Given the description of an element on the screen output the (x, y) to click on. 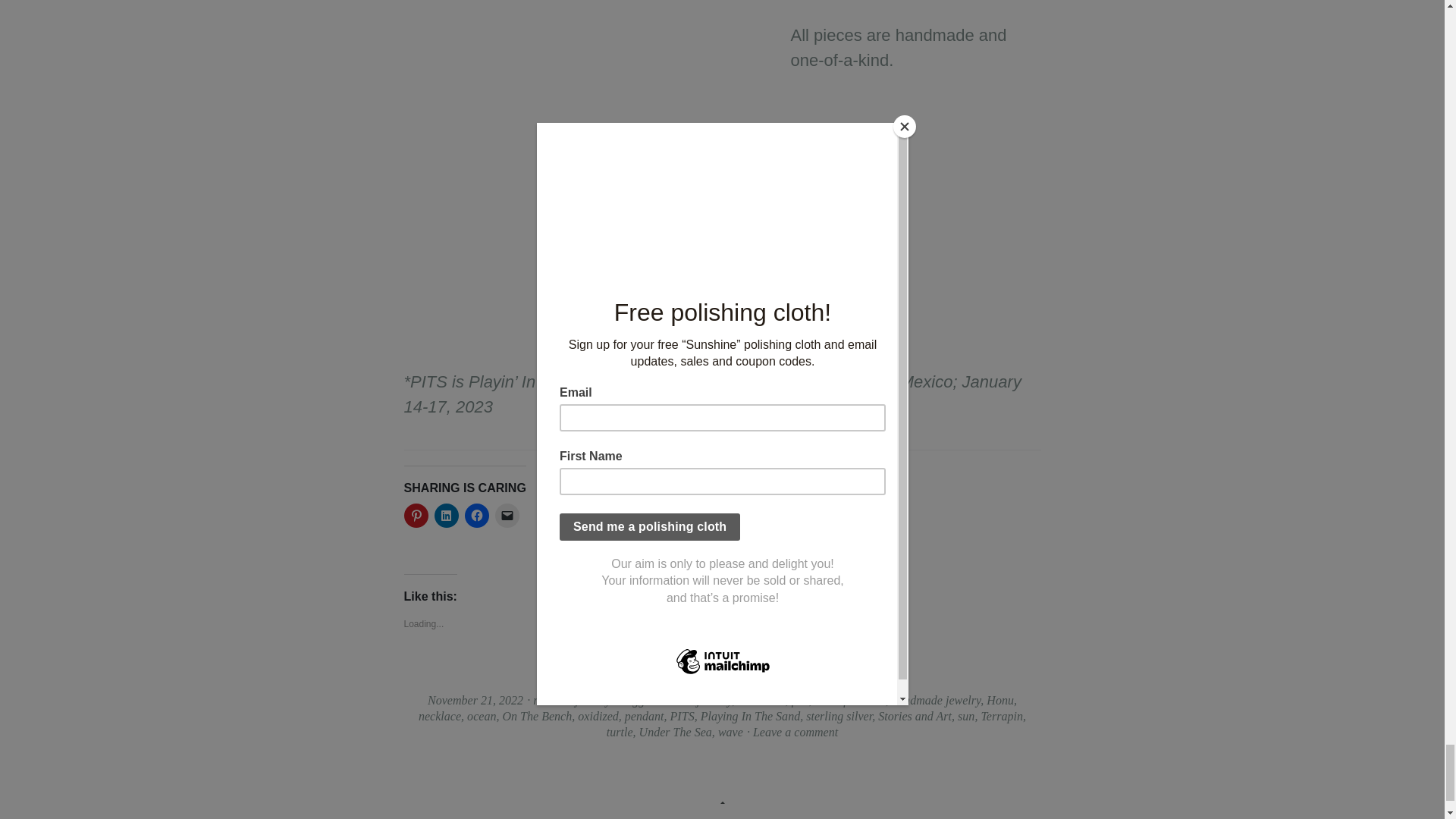
Click to email a link to a friend (506, 515)
Click to share on Facebook (475, 515)
Click to share on Pinterest (415, 515)
Click to share on LinkedIn (445, 515)
